Given the description of an element on the screen output the (x, y) to click on. 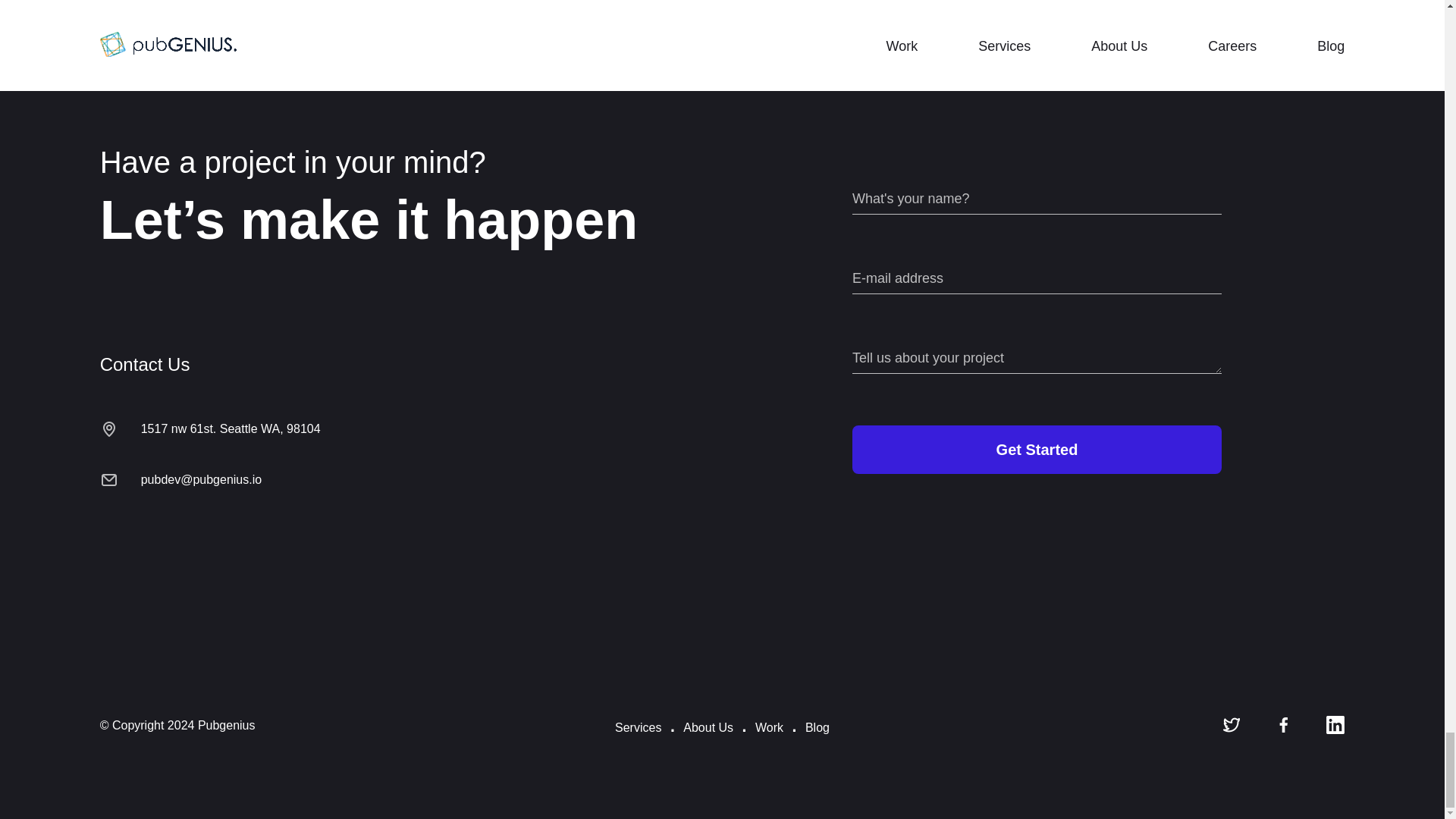
E-mail address (1036, 278)
Work (769, 727)
Tell us about your project (1036, 359)
Have a project in your mind? (408, 162)
Get Started (1036, 449)
Services (637, 727)
Get Started (1036, 449)
What's your name? (1036, 199)
About Us (707, 727)
Contact Us (408, 364)
